Given the description of an element on the screen output the (x, y) to click on. 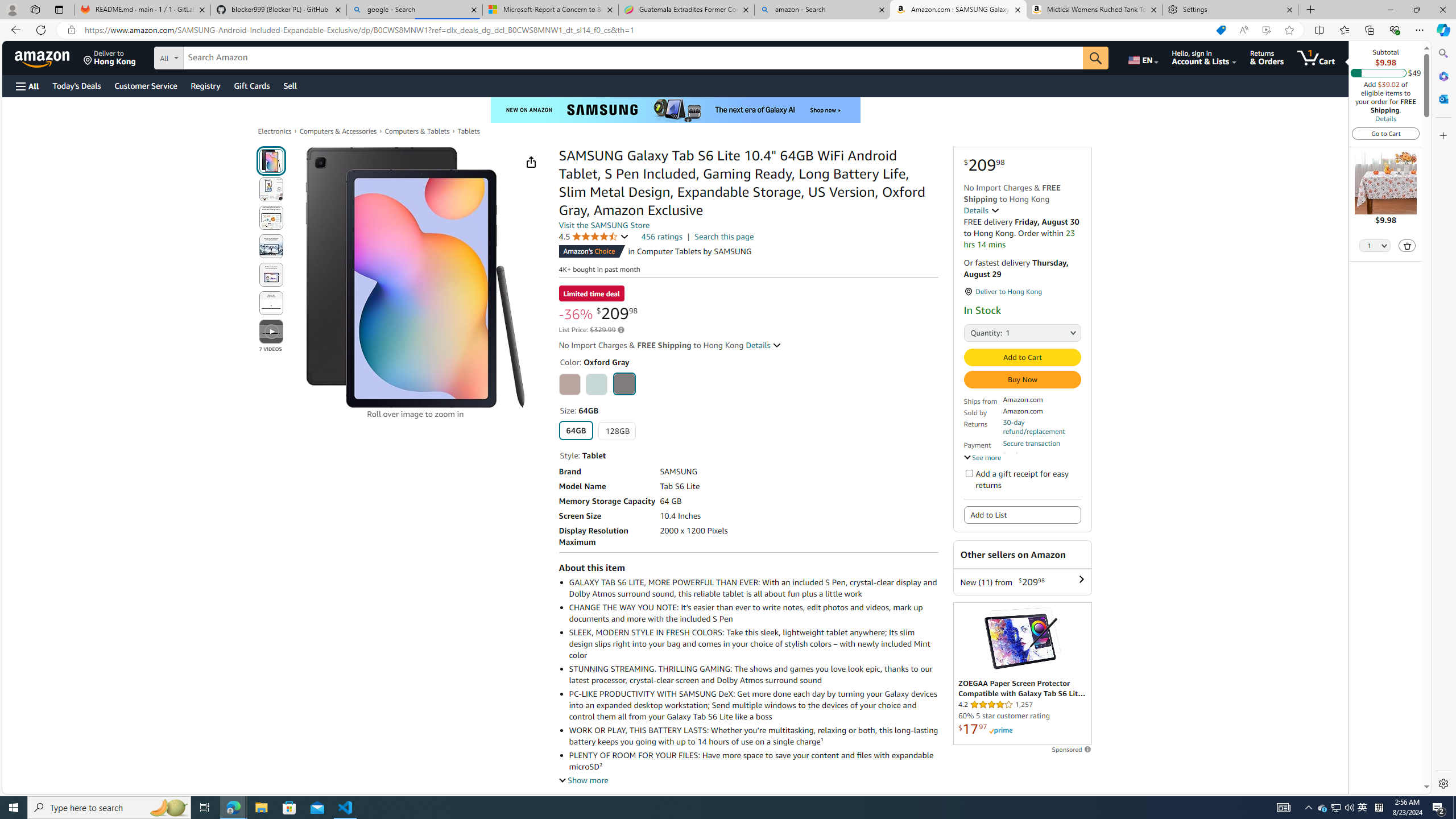
Tablets (468, 130)
Sponsored ad (1022, 672)
Hello, sign in Account & Lists (1203, 57)
Open Menu (26, 86)
amazon - Search (822, 9)
Secure transaction (1032, 442)
Mint (596, 384)
30-day refund/replacement (1042, 426)
Registry (205, 85)
